Given the description of an element on the screen output the (x, y) to click on. 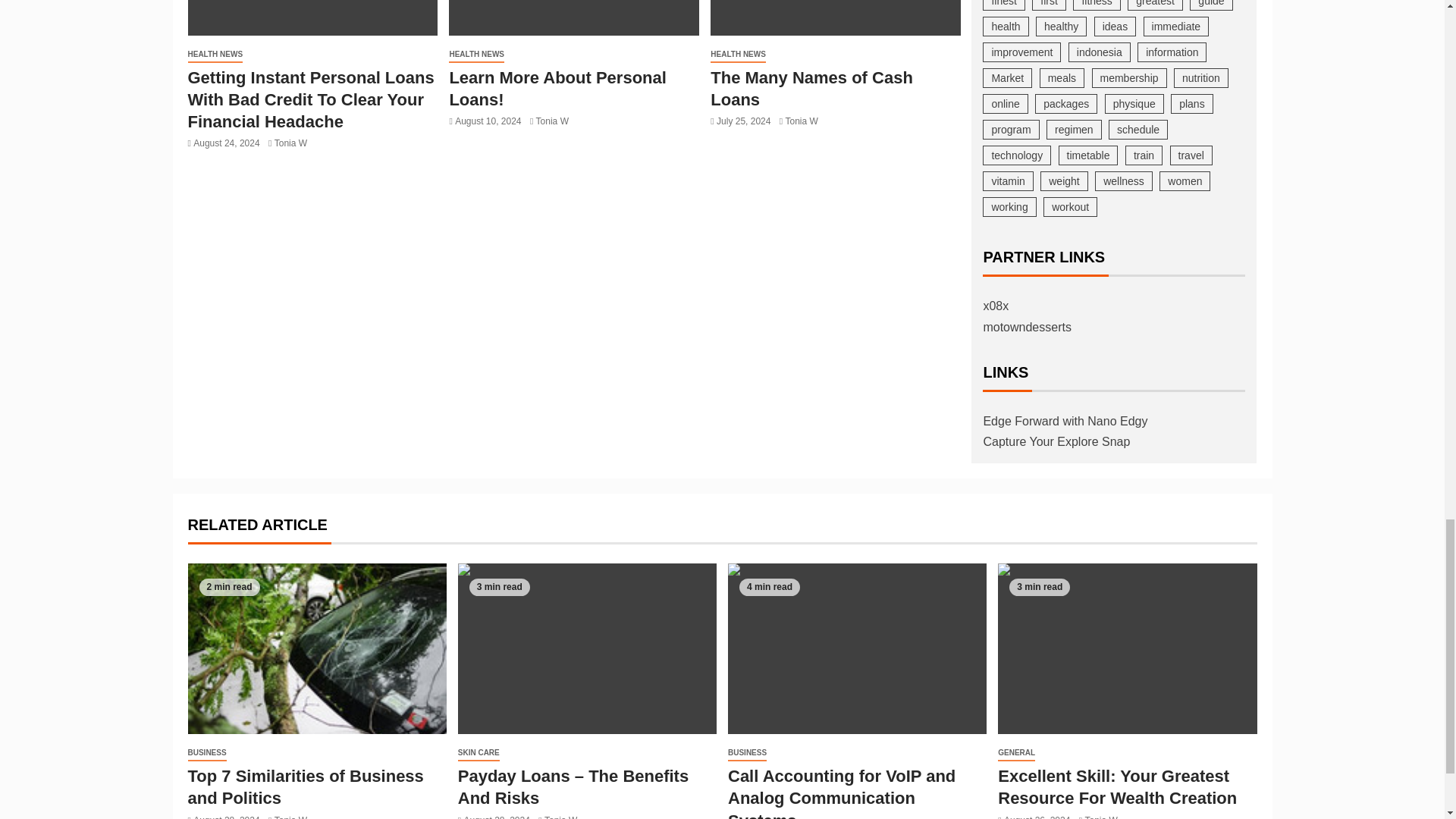
HEALTH NEWS (215, 54)
Tonia W (291, 143)
HEALTH NEWS (475, 54)
Learn More About Personal Loans! (573, 18)
